Given the description of an element on the screen output the (x, y) to click on. 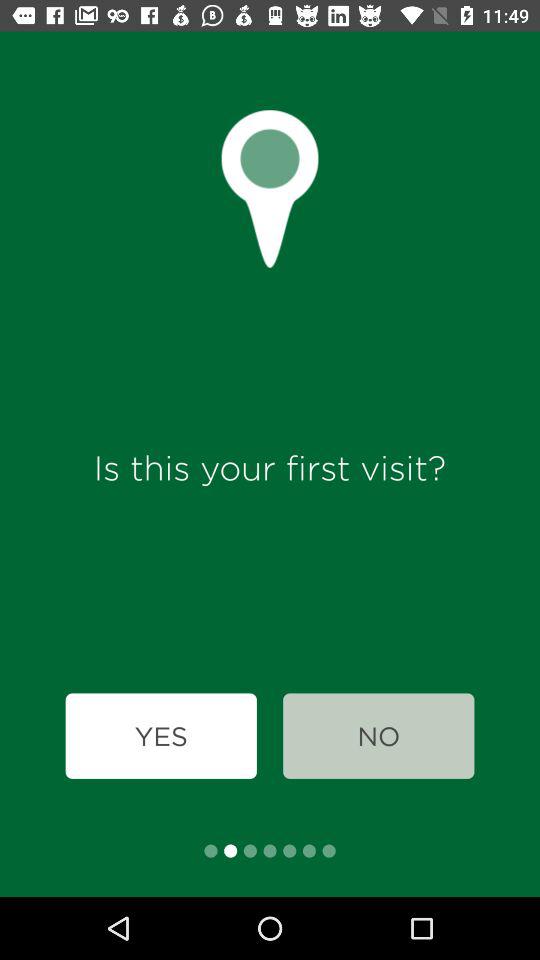
select the icon next to the no icon (160, 735)
